Given the description of an element on the screen output the (x, y) to click on. 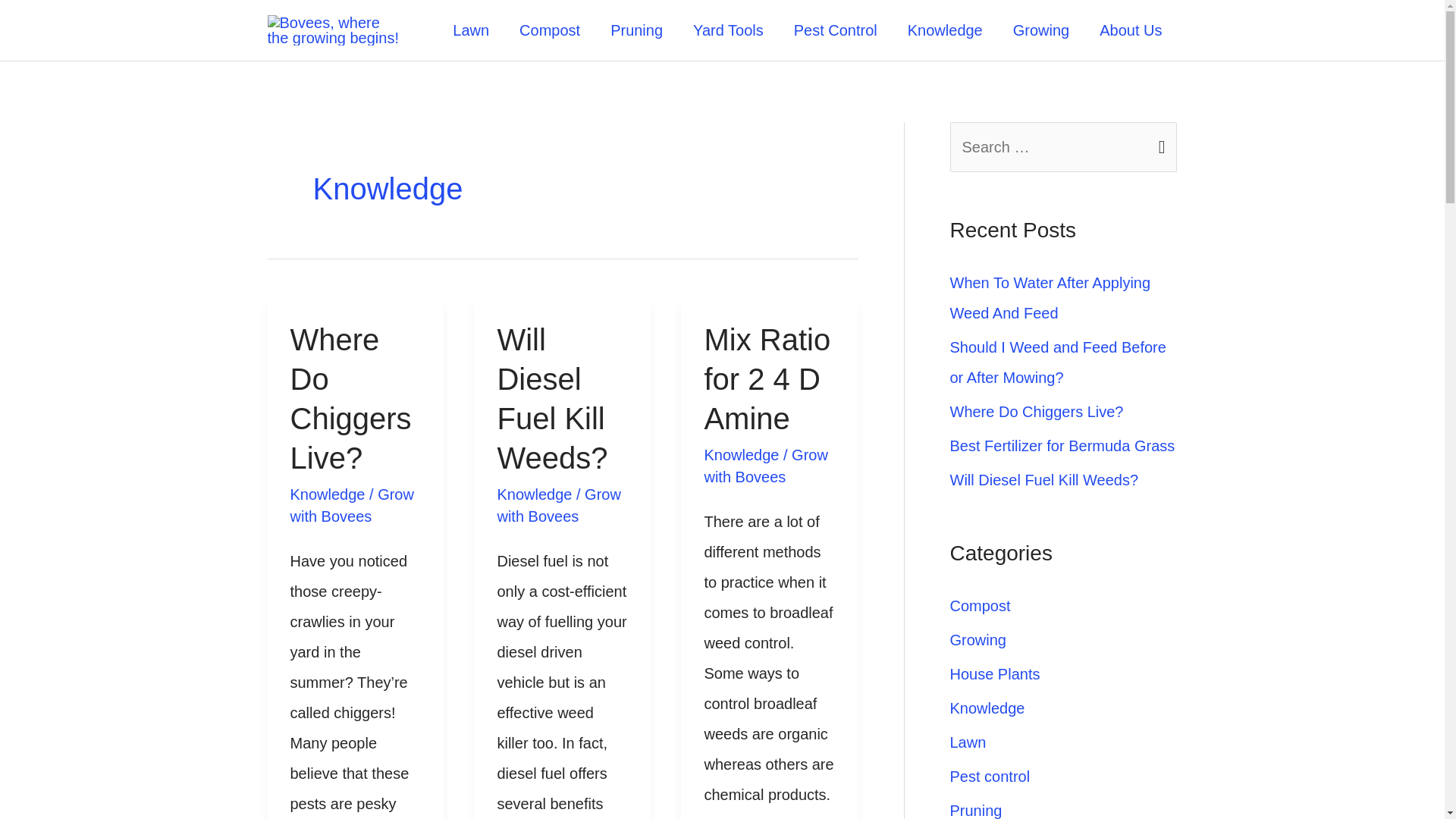
Yard Tools (728, 30)
View all posts by Grow with Bovees (765, 465)
View all posts by Grow with Bovees (351, 505)
Knowledge (740, 454)
View all posts by Grow with Bovees (558, 505)
Pruning (636, 30)
Knowledge (327, 494)
Grow with Bovees (558, 505)
Grow with Bovees (351, 505)
Pest Control (835, 30)
